Given the description of an element on the screen output the (x, y) to click on. 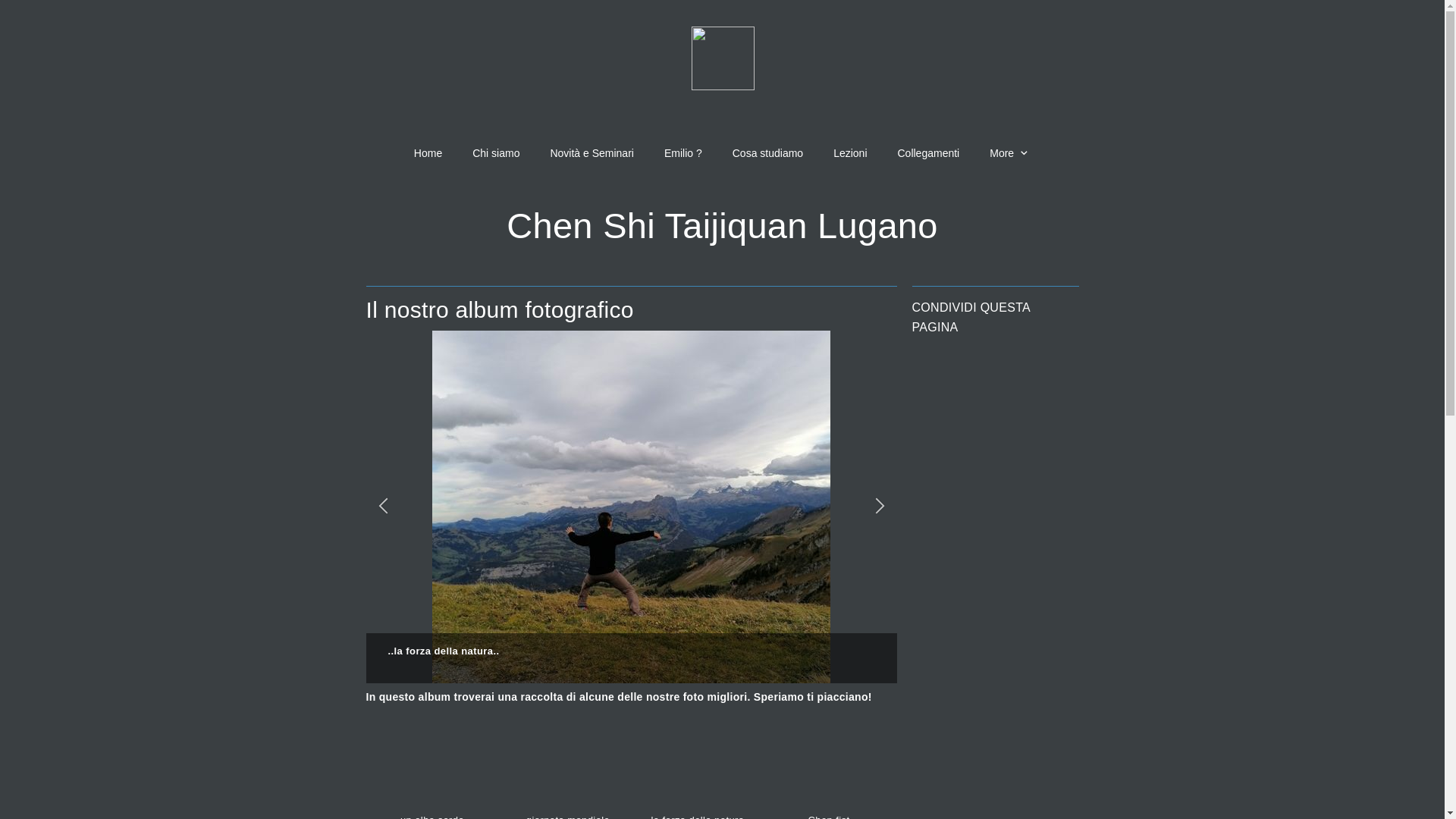
Emilio ? Element type: text (683, 153)
More Element type: text (1009, 153)
Home Element type: text (427, 153)
Lezioni Element type: text (849, 153)
Cosa studiamo Element type: text (767, 153)
Collegamenti Element type: text (928, 153)
Chi siamo Element type: text (495, 153)
Chen Shi Taijiquan Lugano Element type: text (722, 225)
..la forza della natura.. Element type: hover (631, 506)
